Given the description of an element on the screen output the (x, y) to click on. 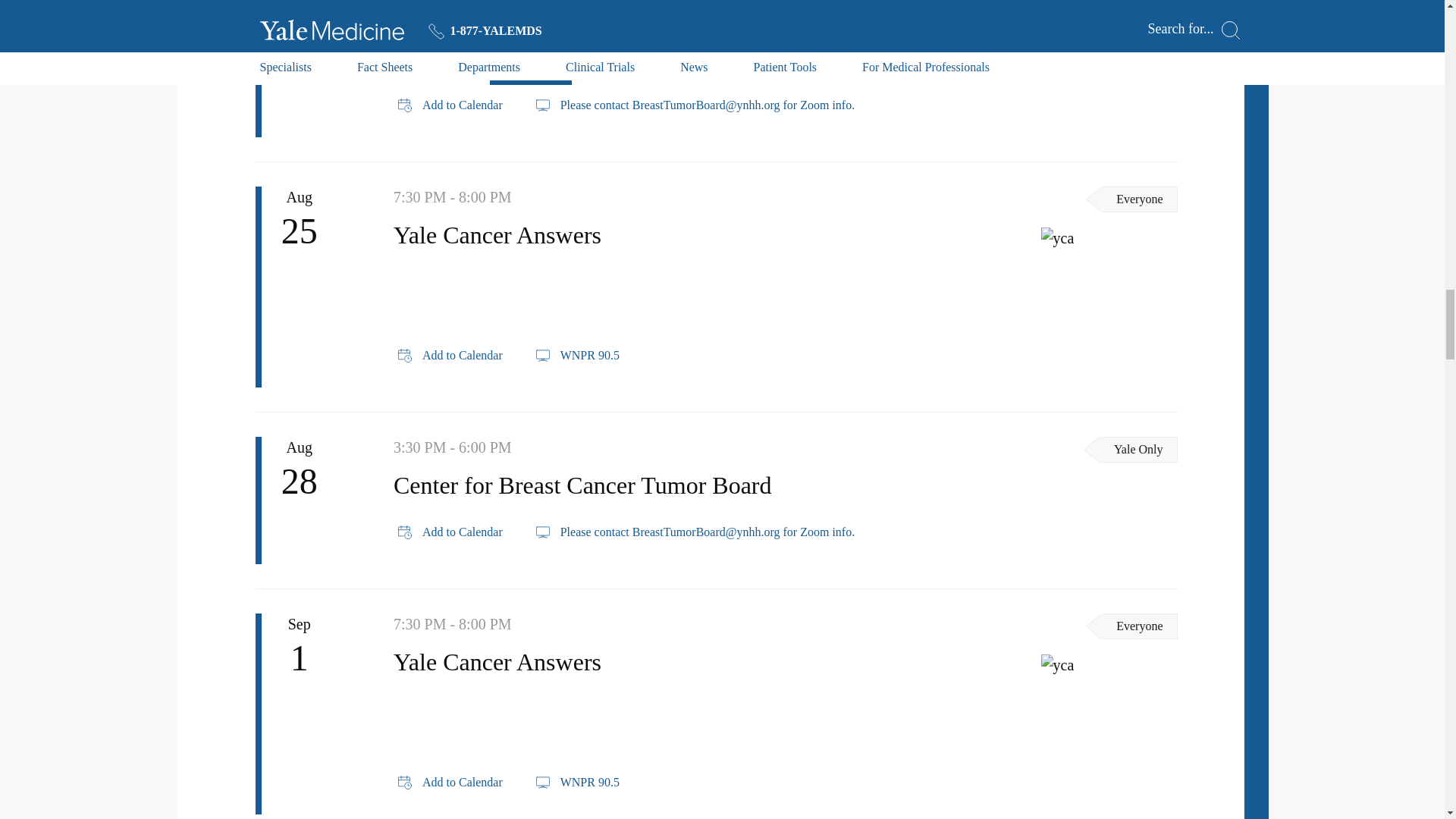
Yale Cancer Answers (1108, 237)
Yale Cancer Answers (1108, 664)
